Given the description of an element on the screen output the (x, y) to click on. 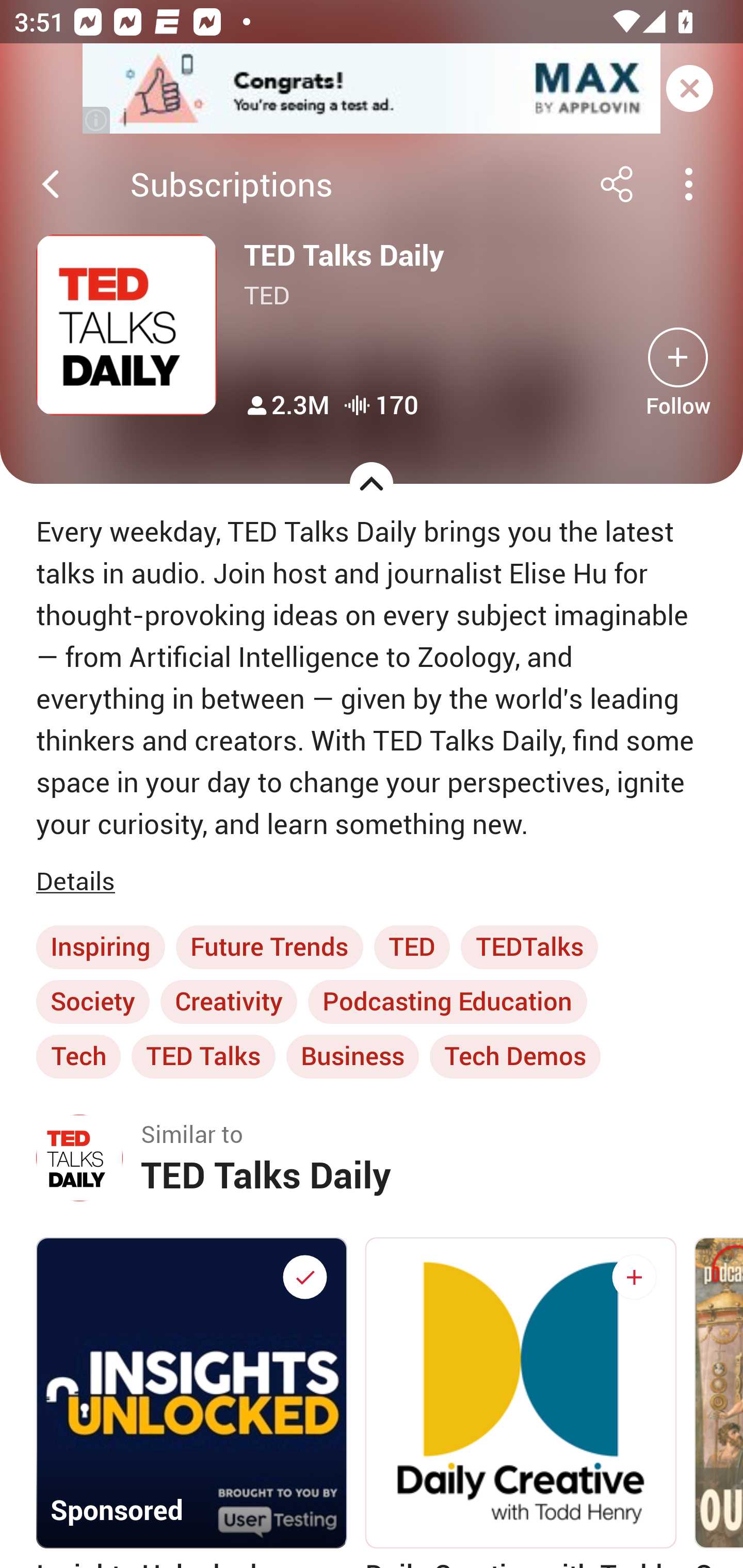
app-monetization (371, 88)
(i) (96, 119)
Back (50, 184)
Subscribe button (677, 357)
Details (79, 881)
Inspiring (100, 947)
Future Trends (269, 947)
TED (411, 947)
TEDTalks (529, 947)
Society (92, 1001)
Creativity (228, 1001)
Podcasting Education (447, 1001)
Tech (78, 1056)
TED Talks (203, 1056)
Business (352, 1056)
Tech Demos (514, 1056)
Unsubscribe button (304, 1276)
Subscribe button (634, 1276)
